Given the description of an element on the screen output the (x, y) to click on. 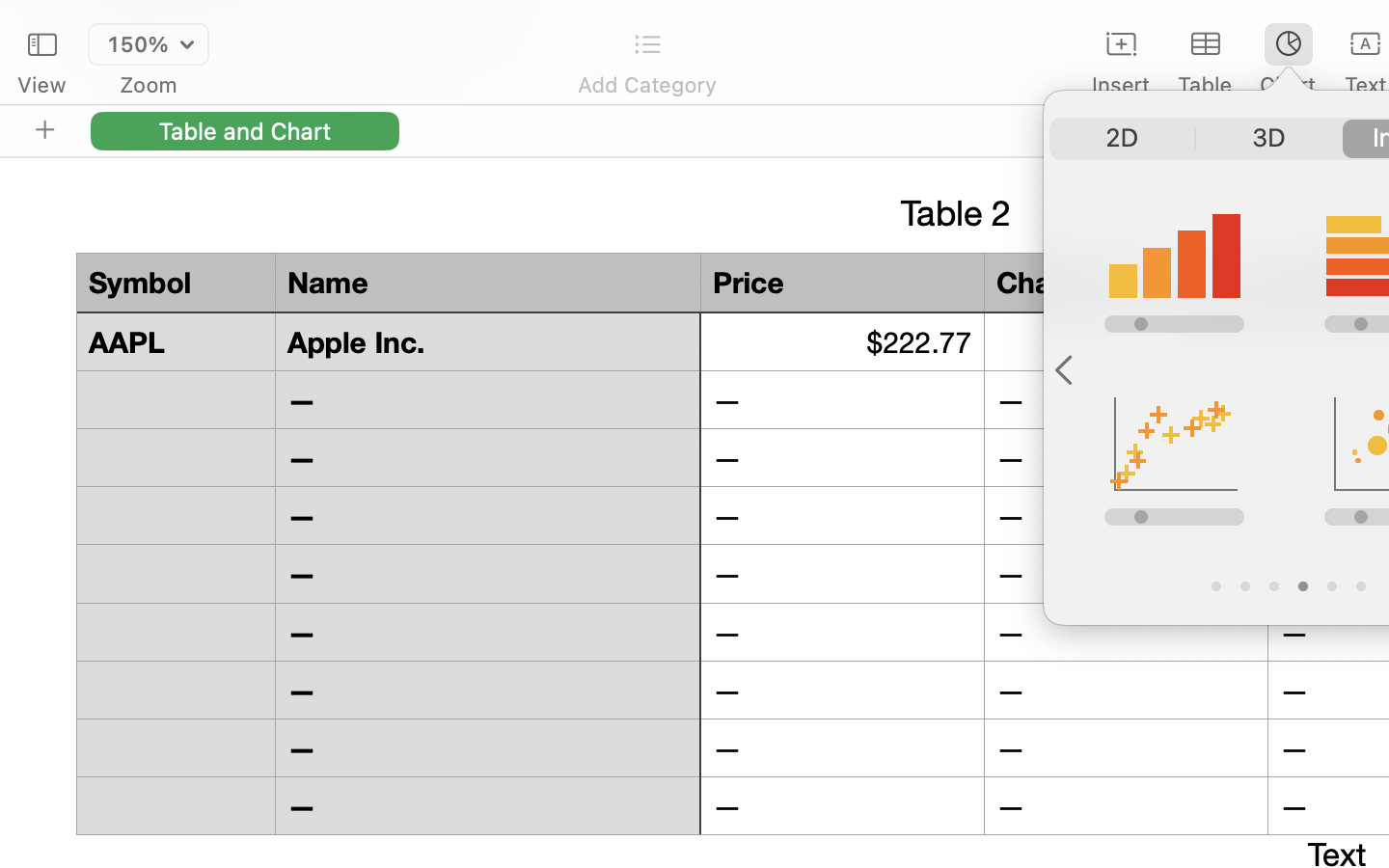
View Element type: AXStaticText (41, 84)
Zoom Element type: AXStaticText (148, 84)
